Given the description of an element on the screen output the (x, y) to click on. 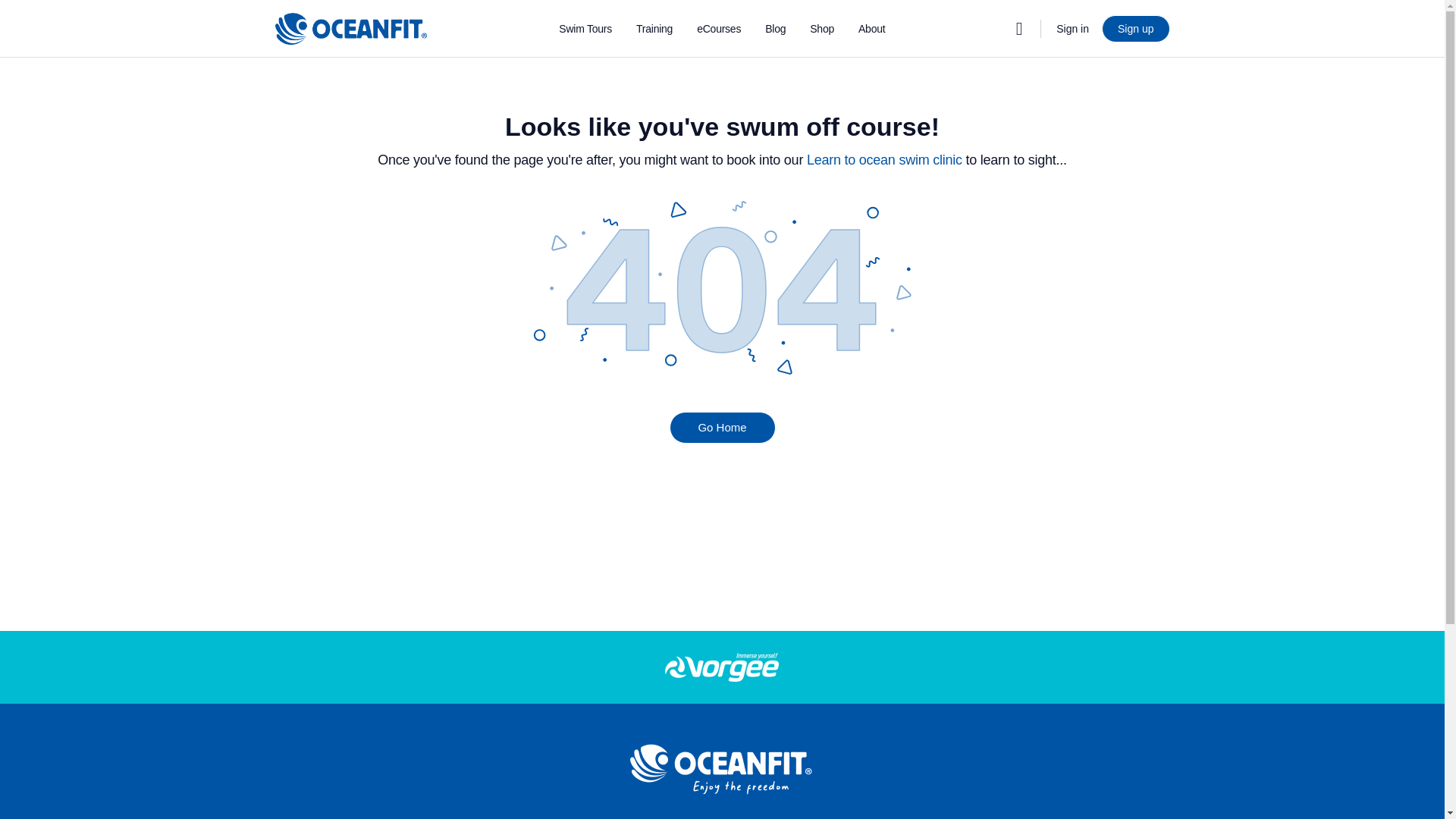
Swim Tours (585, 28)
vorgee-logo (721, 666)
oceanfit-logo-horizontal-tag-r-white (721, 768)
